Given the description of an element on the screen output the (x, y) to click on. 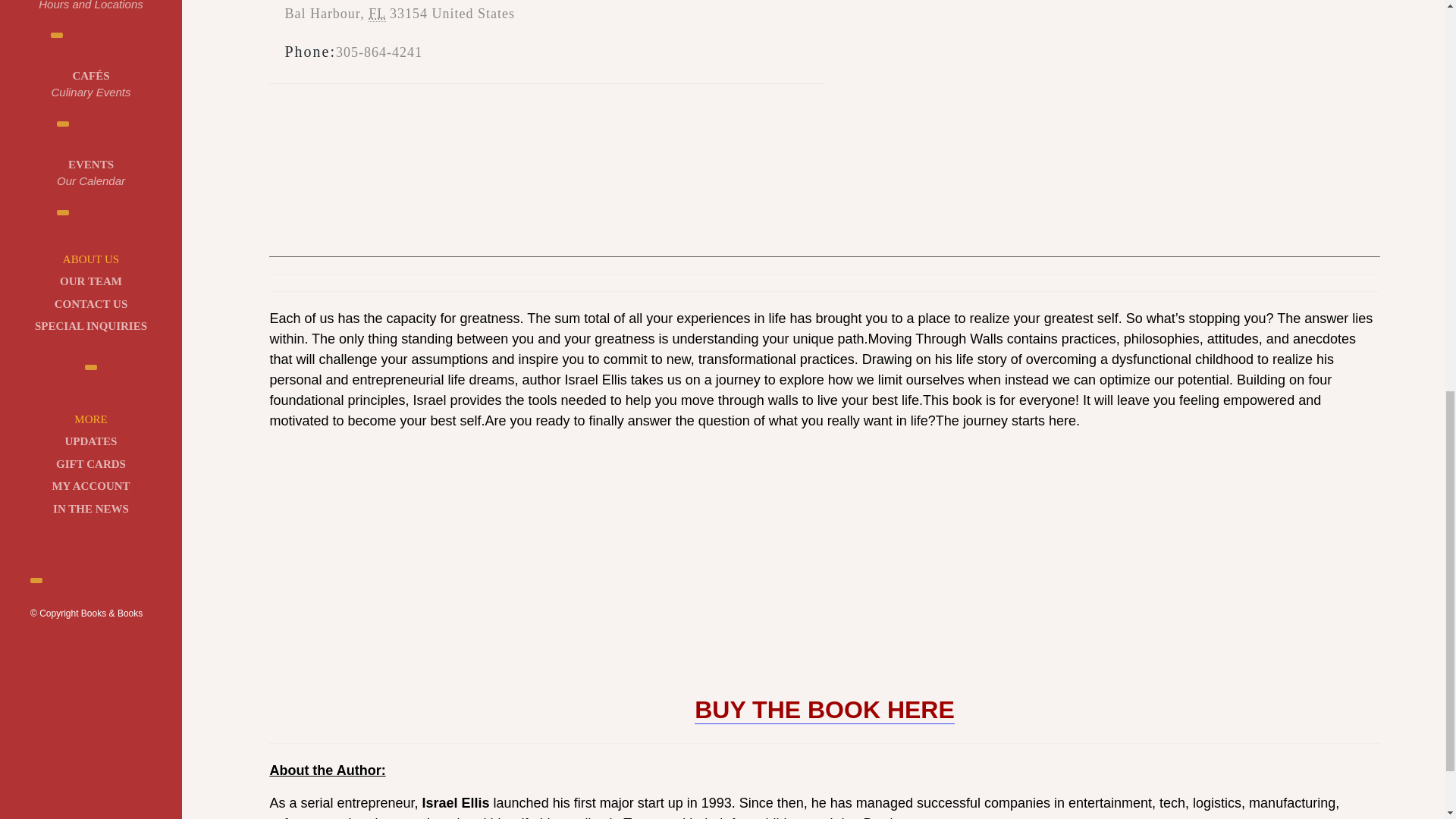
UPDATES (89, 441)
CONTACT US (90, 304)
SPECIAL INQUIRIES (90, 326)
OUR TEAM (90, 281)
MY ACCOUNT (89, 486)
Florida (90, 6)
GIFT CARDS (376, 13)
IN THE NEWS (89, 464)
